Given the description of an element on the screen output the (x, y) to click on. 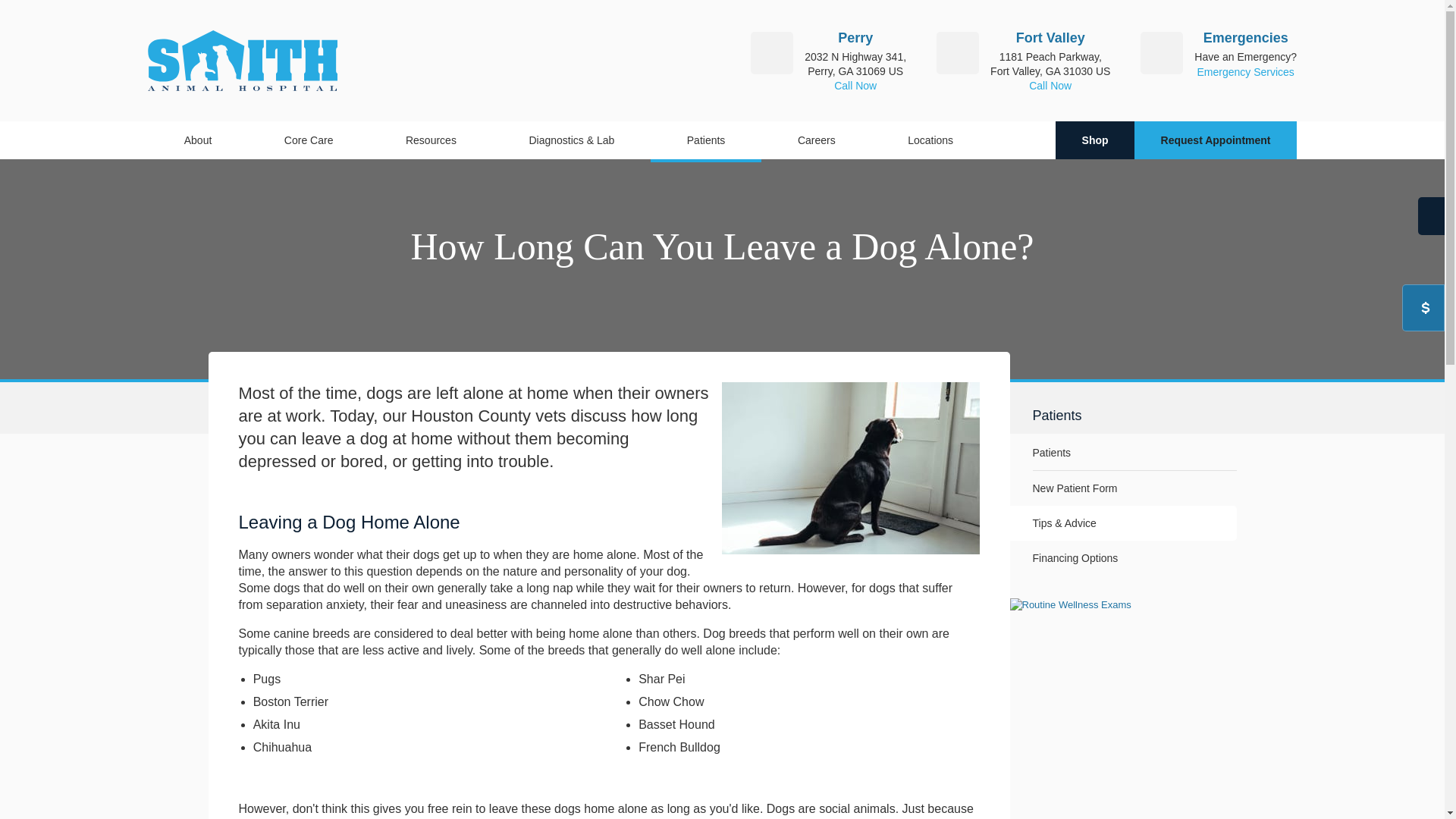
Fort Valley (1050, 37)
Perry (855, 37)
Emergencies (1246, 37)
Have an Emergency? (1245, 56)
